Given the description of an element on the screen output the (x, y) to click on. 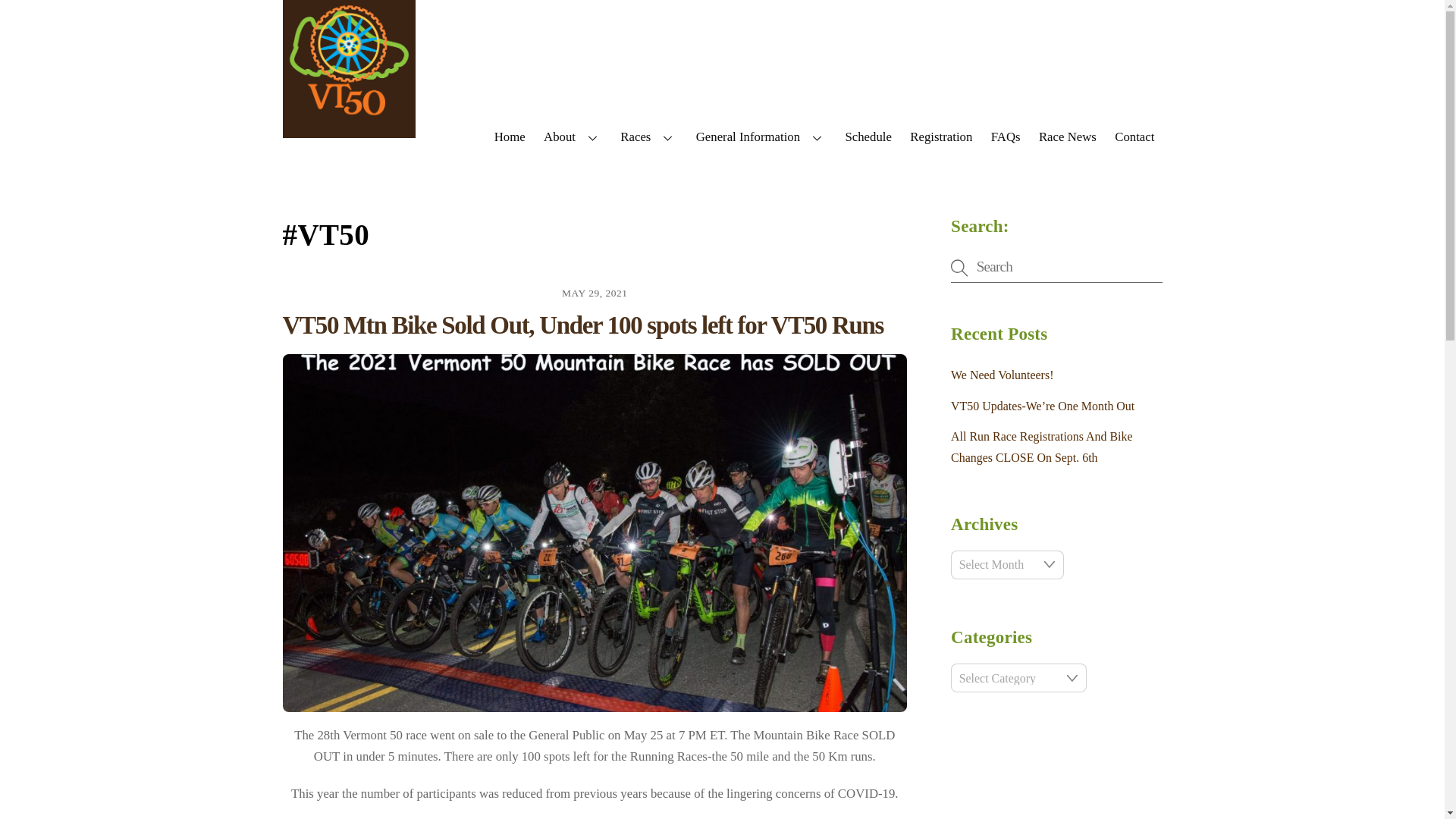
FAQs (1005, 136)
About (572, 136)
Vermont 50 (348, 130)
Registration (940, 136)
Home (509, 136)
Search (1055, 266)
Race News (1066, 136)
Races (648, 136)
Schedule (868, 136)
